Given the description of an element on the screen output the (x, y) to click on. 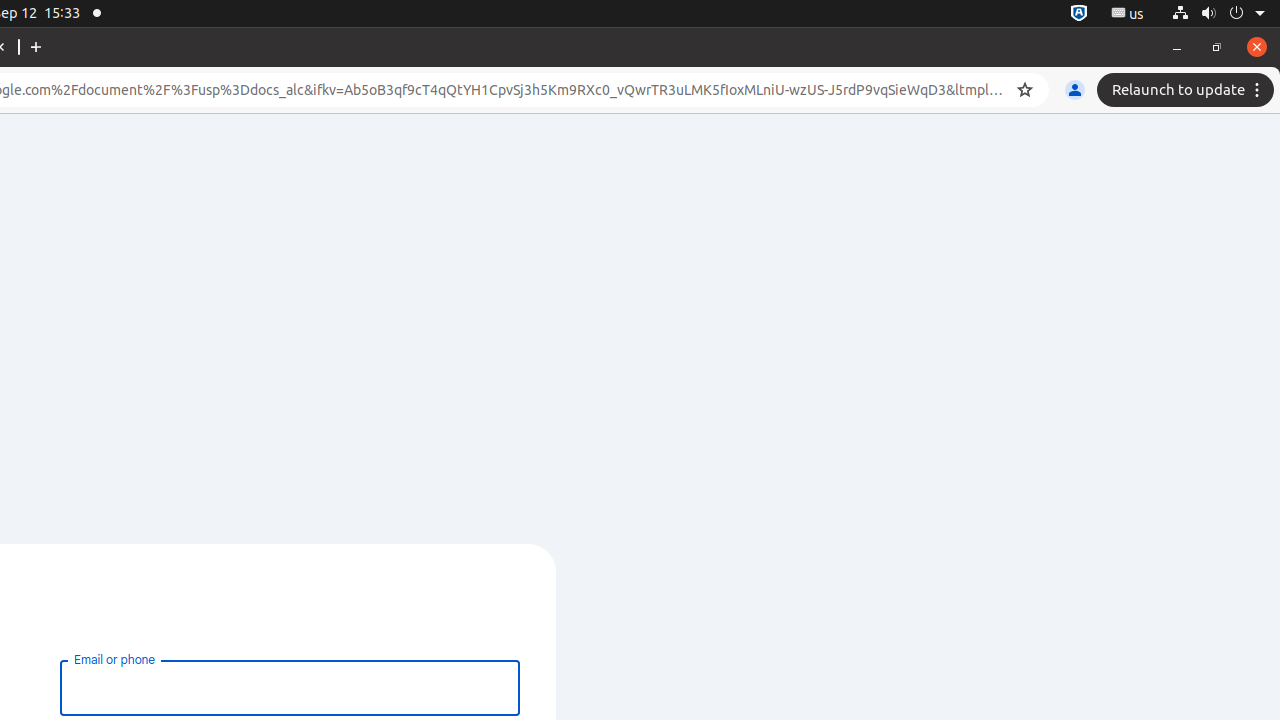
You Element type: push-button (1075, 90)
